Given the description of an element on the screen output the (x, y) to click on. 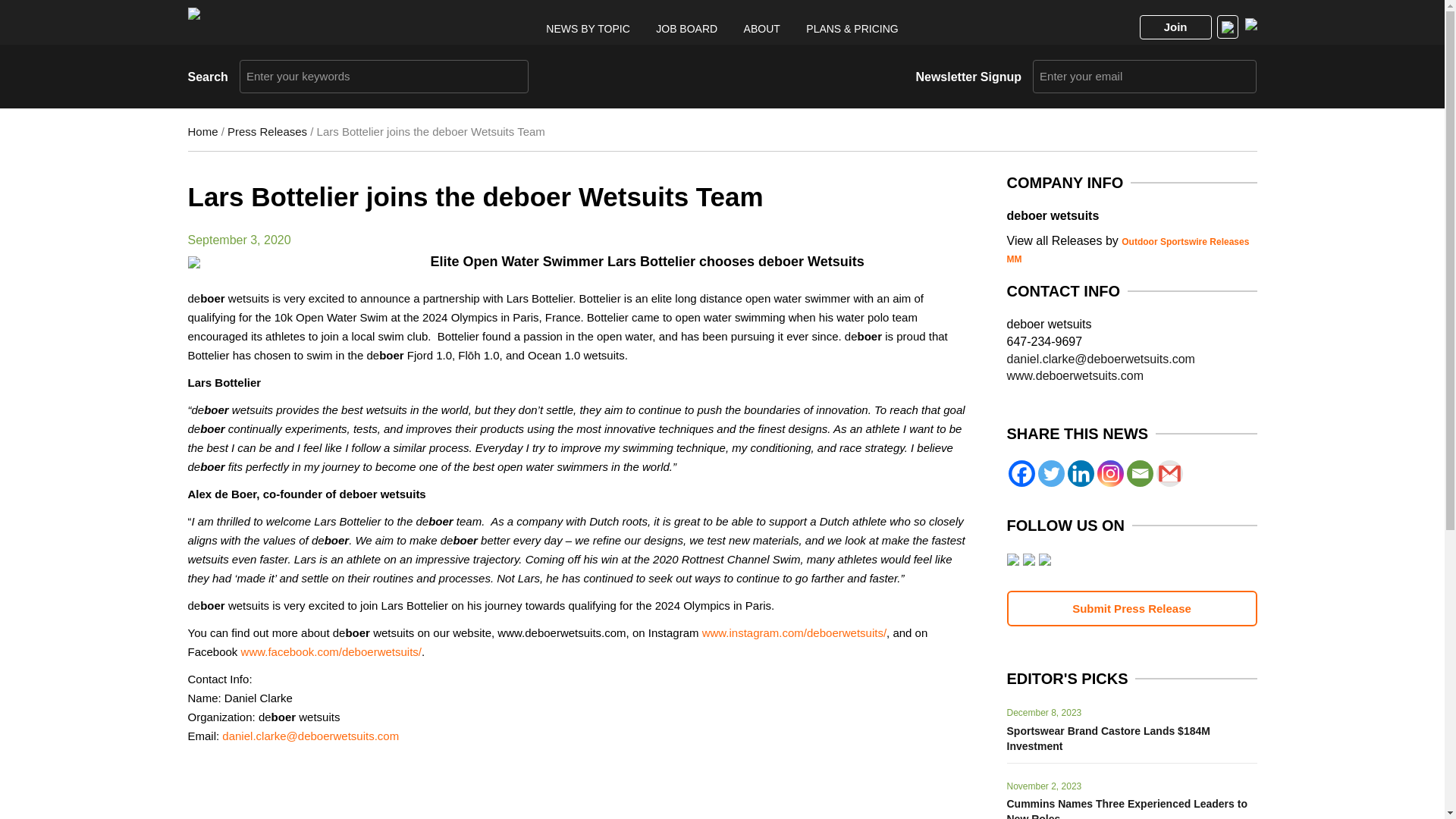
Email (1139, 473)
ABOUT (762, 28)
Linkedin (1080, 473)
NEWS BY TOPIC (587, 28)
Instagram (1109, 473)
Posts by Outdoor Sportswire Releases MM (1128, 250)
JOB BOARD (686, 28)
Facebook (1022, 473)
Google Gmail (1169, 473)
Twitter (1050, 473)
Home (202, 131)
Join (1175, 27)
